Given the description of an element on the screen output the (x, y) to click on. 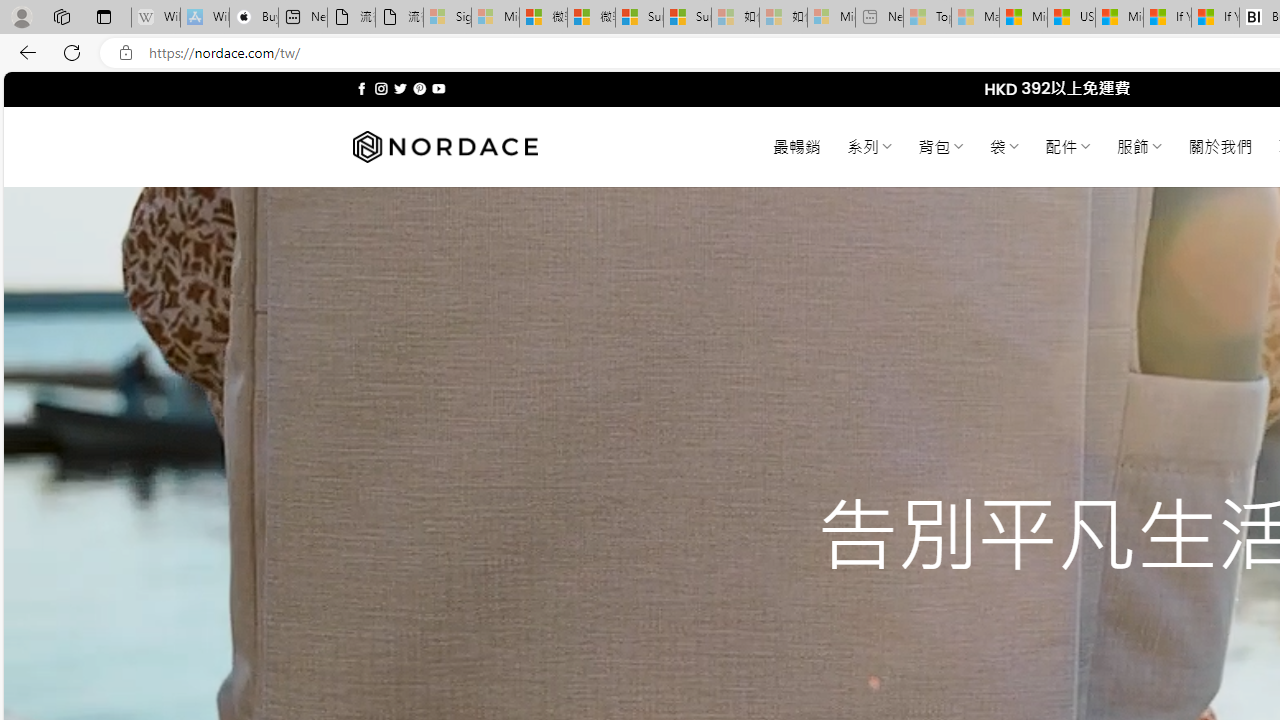
Follow on Instagram (381, 88)
Buy iPad - Apple (253, 17)
US Heat Deaths Soared To Record High Last Year (1071, 17)
Top Stories - MSN - Sleeping (927, 17)
